Given the description of an element on the screen output the (x, y) to click on. 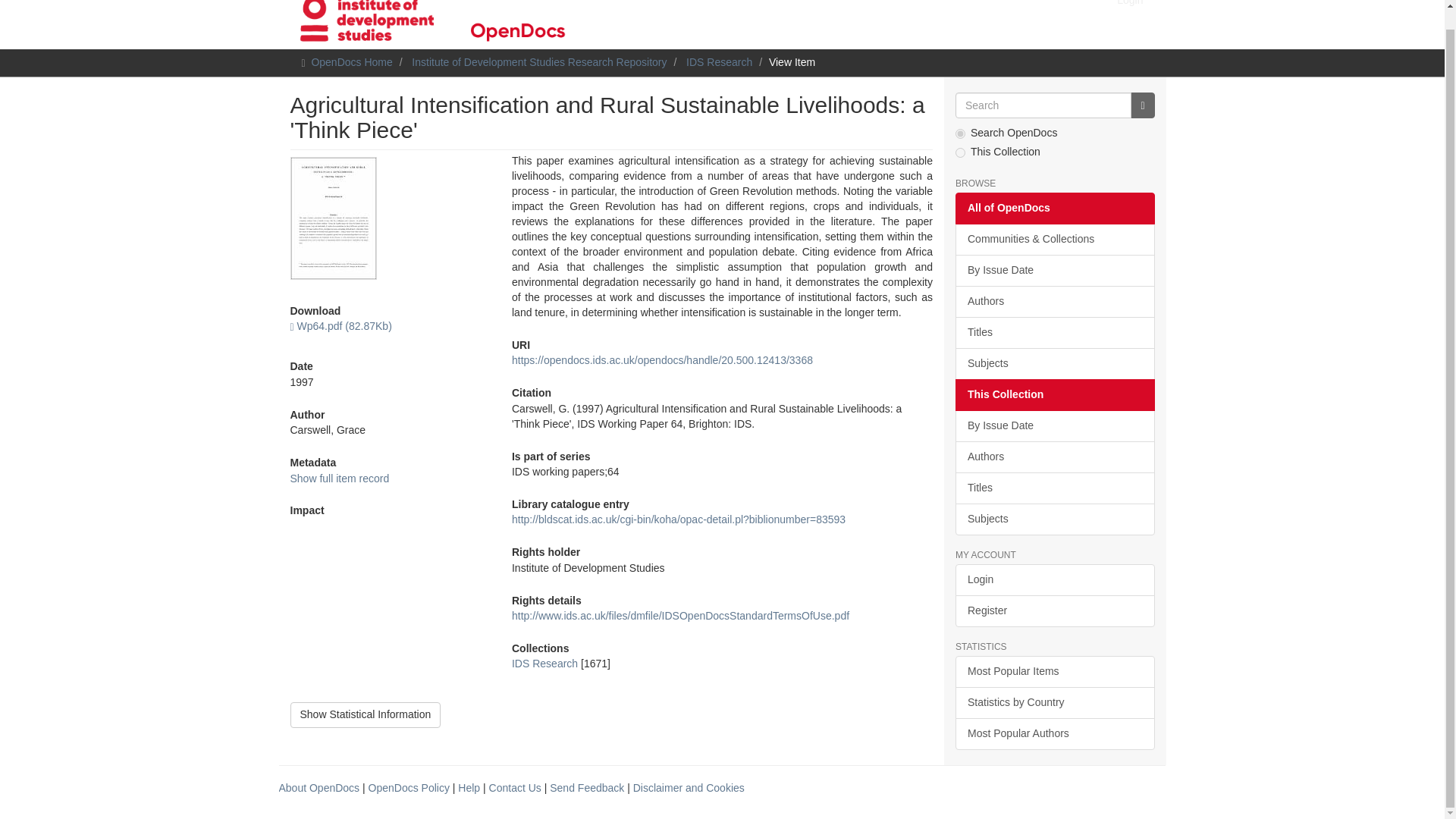
All of OpenDocs (1054, 208)
IDS Research (545, 663)
IDS Research (718, 61)
Institute of Development Studies Research Repository (539, 61)
Login (1054, 580)
Subjects (1054, 519)
Login (1129, 9)
Titles (1054, 488)
Show Statistical Information (365, 714)
By Issue Date (1054, 426)
Show full item record (338, 478)
OpenDocs Home (351, 61)
Titles (1054, 332)
Subjects (1054, 364)
Authors (1054, 301)
